Given the description of an element on the screen output the (x, y) to click on. 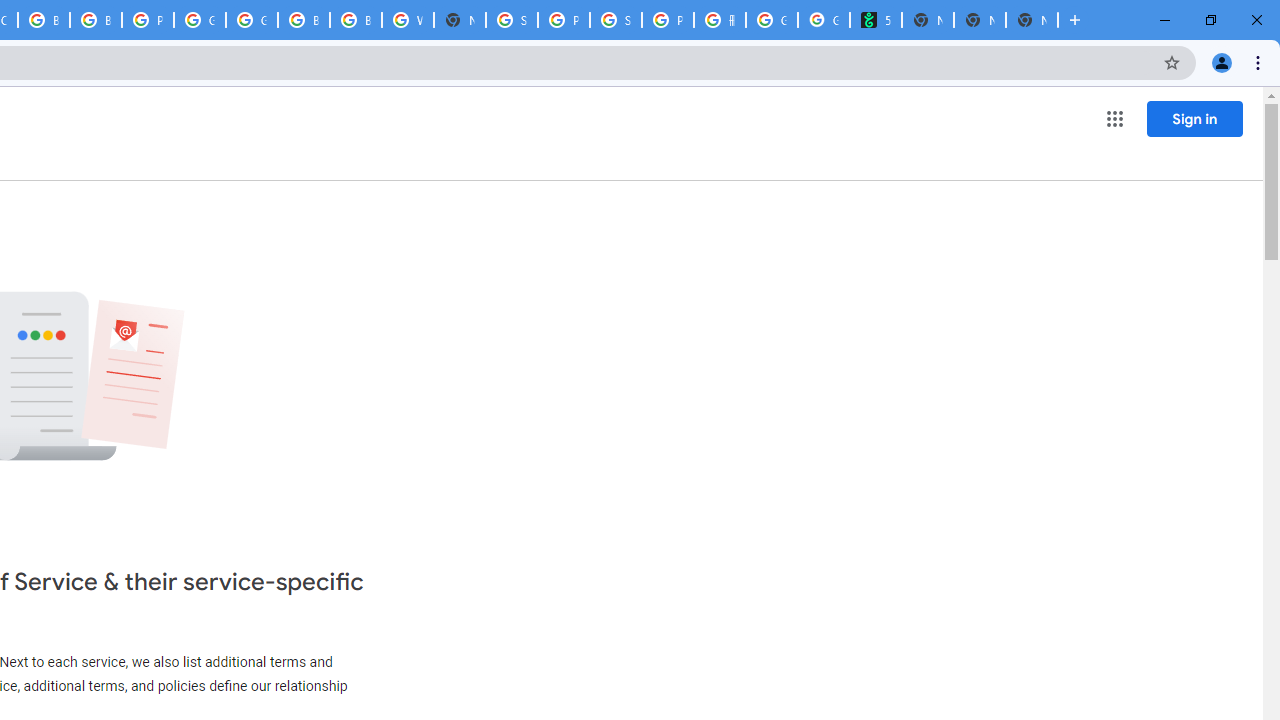
Google Cloud Platform (200, 20)
New Tab (1032, 20)
You (1221, 62)
Chrome (1260, 62)
Google Cloud Platform (251, 20)
Browse Chrome as a guest - Computer - Google Chrome Help (355, 20)
Sign in (1194, 118)
Minimize (1165, 20)
Bookmark this tab (1171, 62)
Google apps (1114, 118)
New Tab (459, 20)
